Given the description of an element on the screen output the (x, y) to click on. 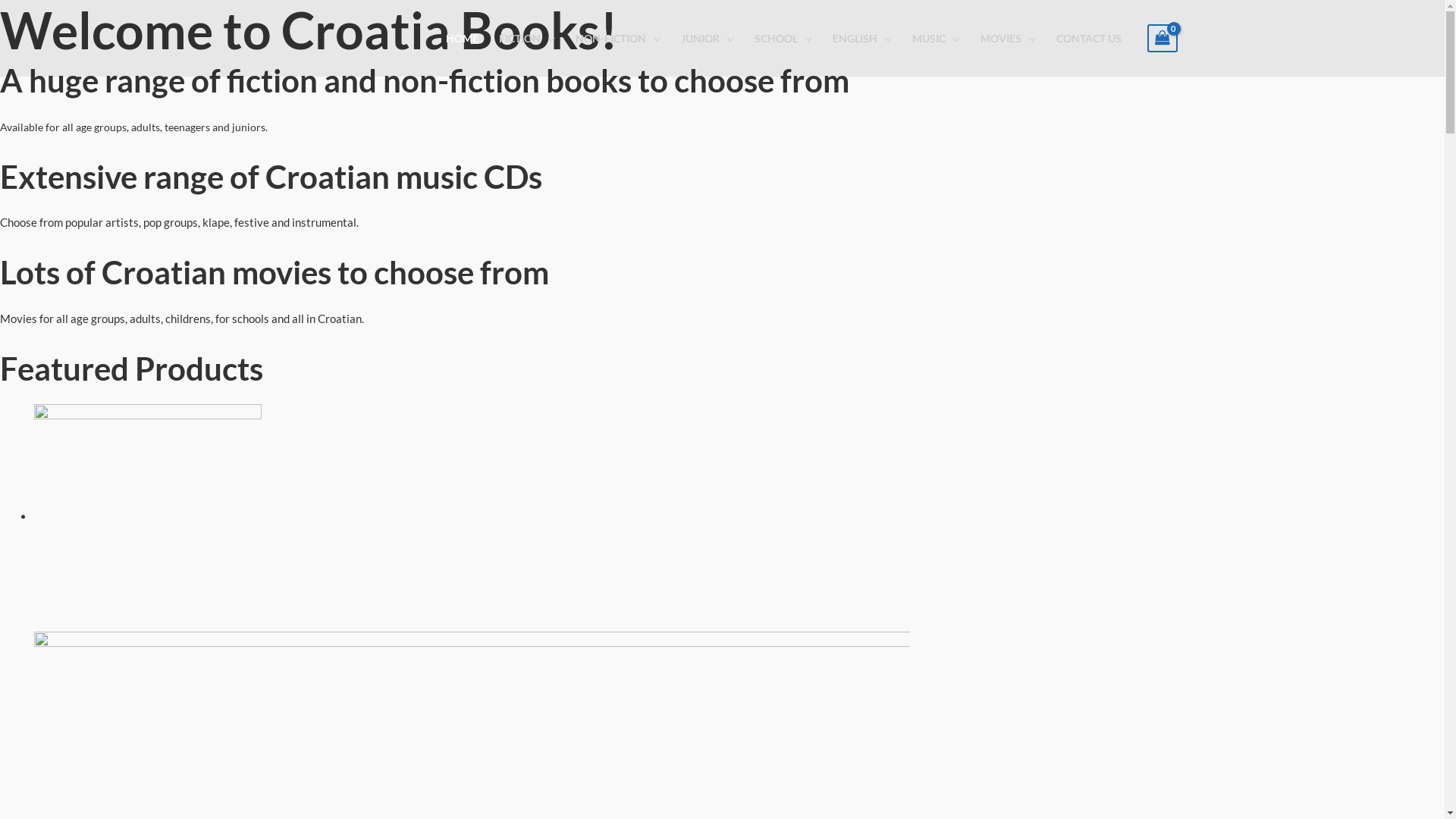
SCHOOL Element type: text (783, 38)
MUSIC Element type: text (936, 38)
NON-FICTION Element type: text (618, 38)
ENGLISH Element type: text (861, 38)
HOME Element type: text (461, 38)
CONTACT US Element type: text (1089, 38)
MOVIES Element type: text (1008, 38)
JUNIOR Element type: text (706, 38)
FICTION Element type: text (526, 38)
